Given the description of an element on the screen output the (x, y) to click on. 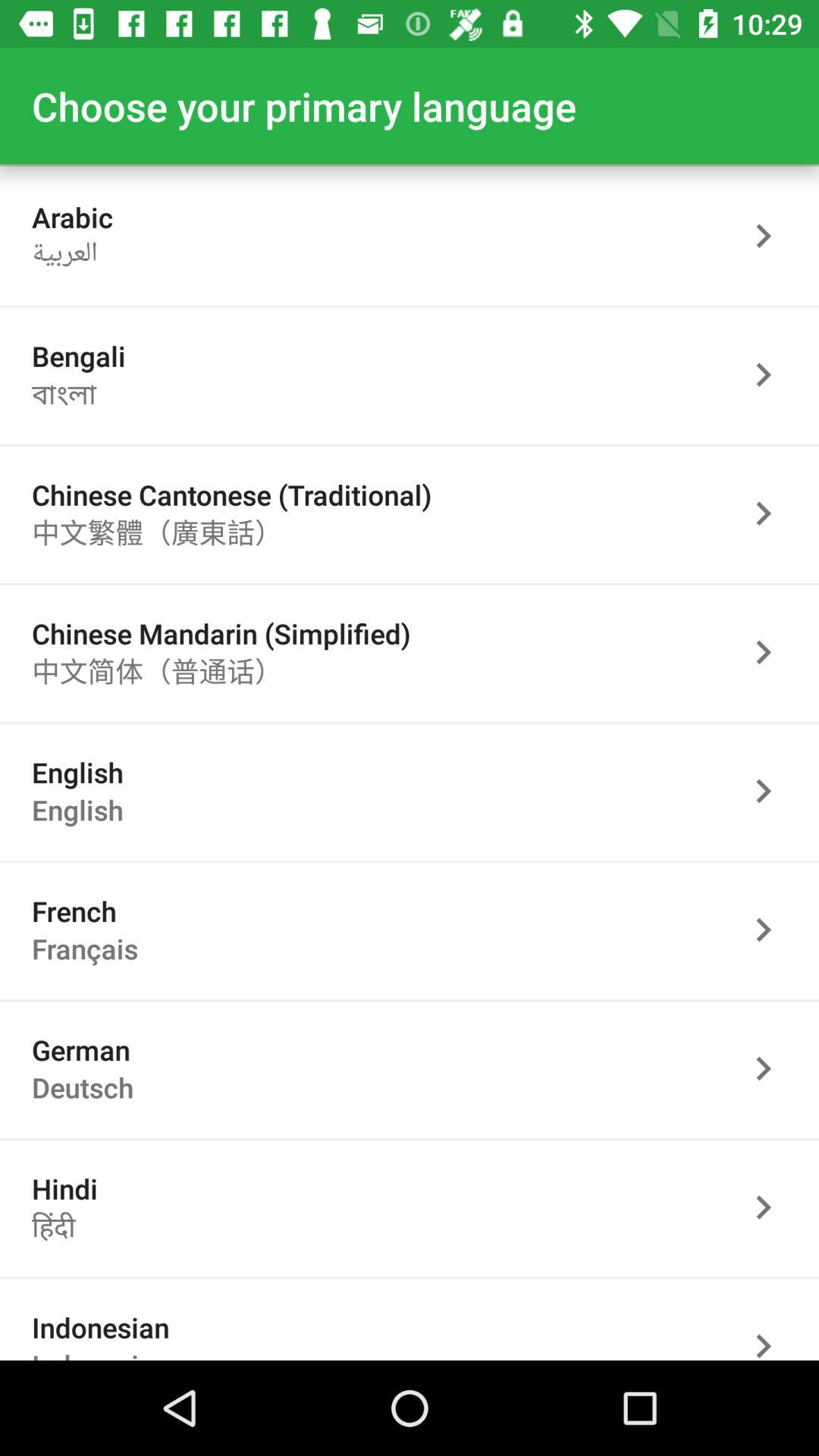
select the language (771, 929)
